Given the description of an element on the screen output the (x, y) to click on. 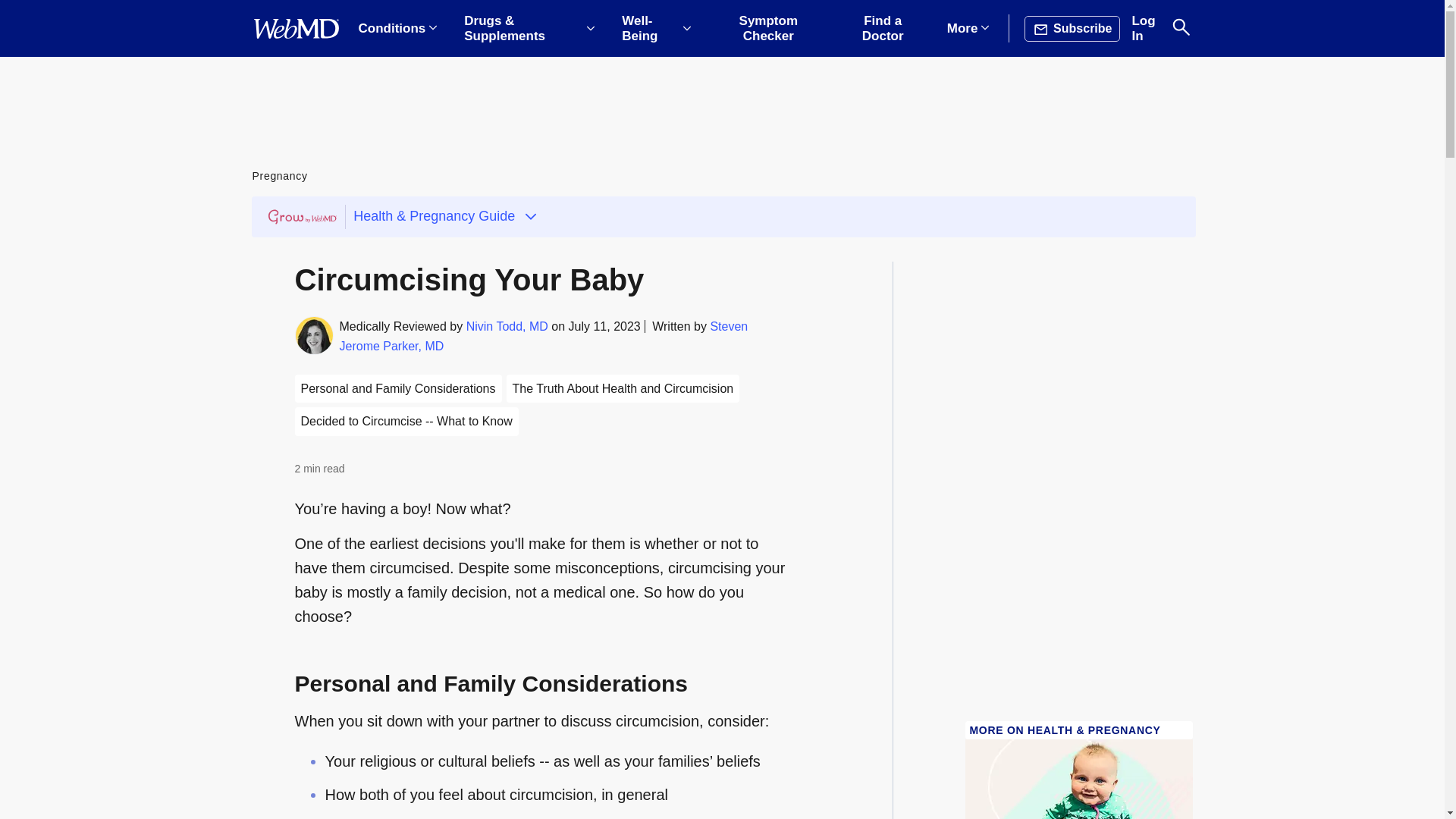
Conditions (397, 28)
